Given the description of an element on the screen output the (x, y) to click on. 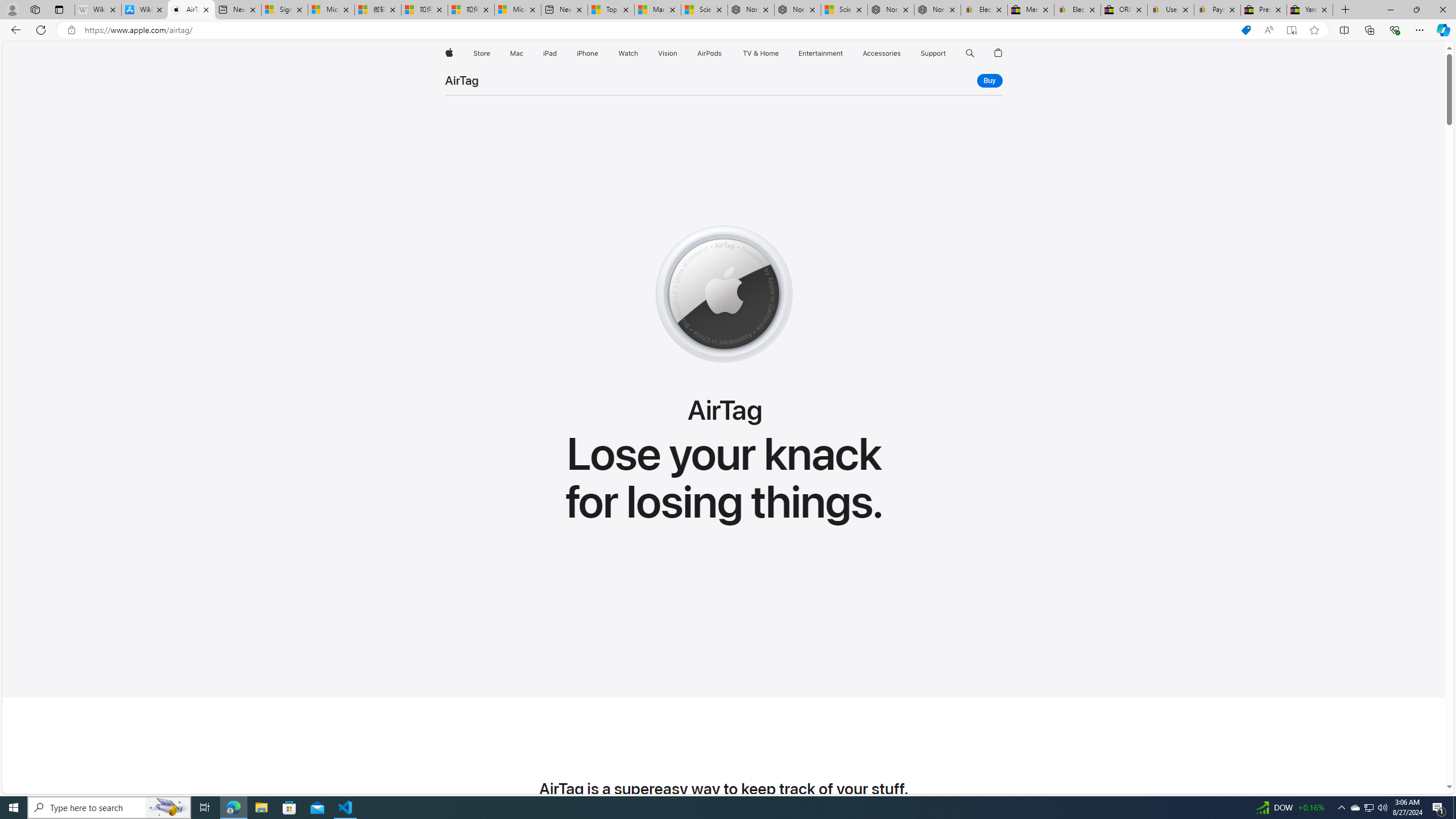
iPhone (587, 53)
Class: globalnav-submenu-trigger-item (948, 53)
Microsoft Services Agreement (330, 9)
Vision (667, 53)
Support menu (948, 53)
Search apple.com (969, 53)
Payments Terms of Use | eBay.com (1216, 9)
Support (932, 53)
Apple (448, 53)
Accessories menu (903, 53)
Microsoft account | Account Checkup (517, 9)
Top Stories - MSN (610, 9)
AirTag - Apple (191, 9)
